Given the description of an element on the screen output the (x, y) to click on. 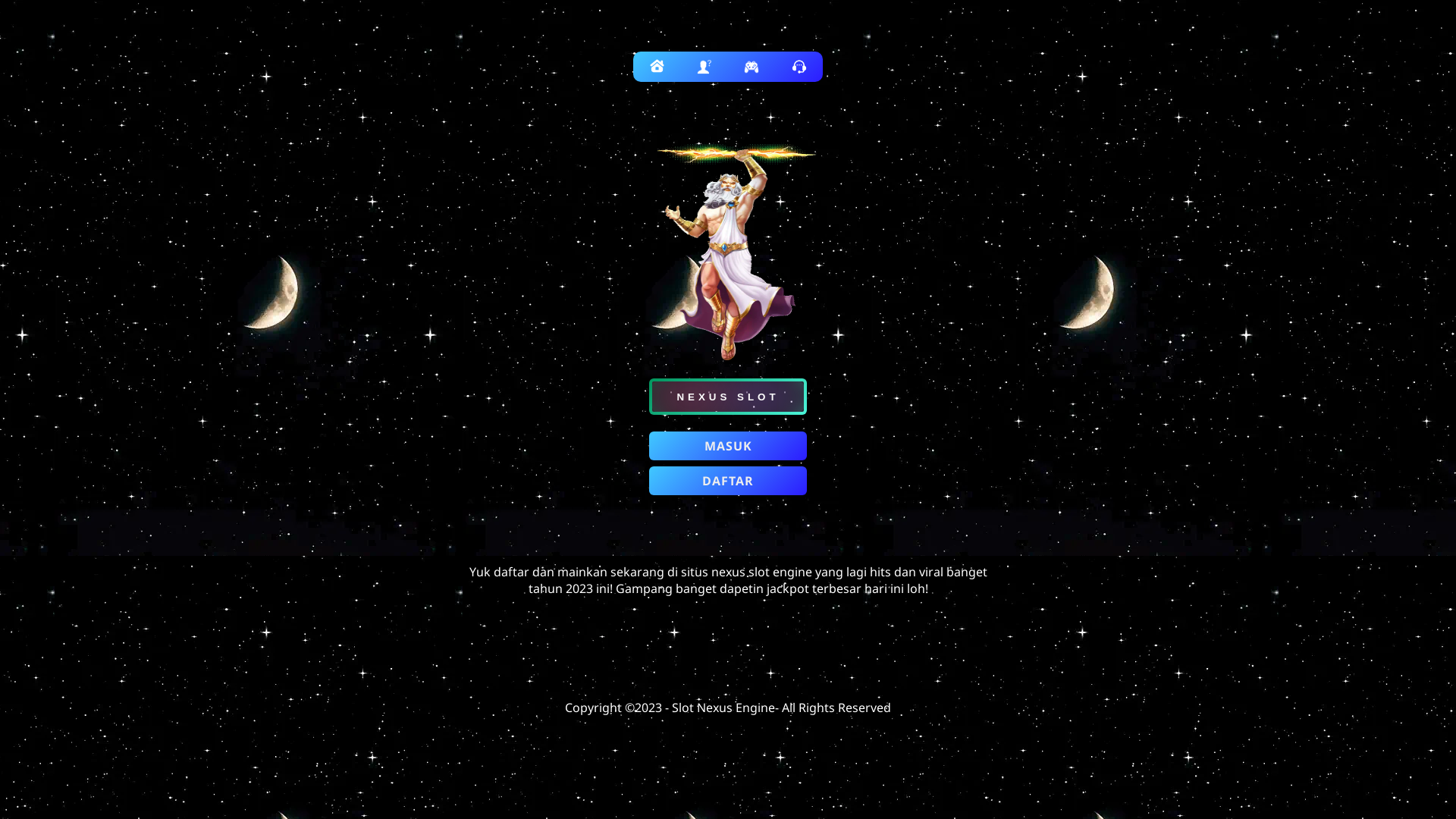
DAFTAR Element type: text (727, 480)
Slot Nexus Engine Element type: text (723, 707)
NEXUS SLOT Element type: text (727, 396)
MASUK Element type: text (727, 445)
